Given the description of an element on the screen output the (x, y) to click on. 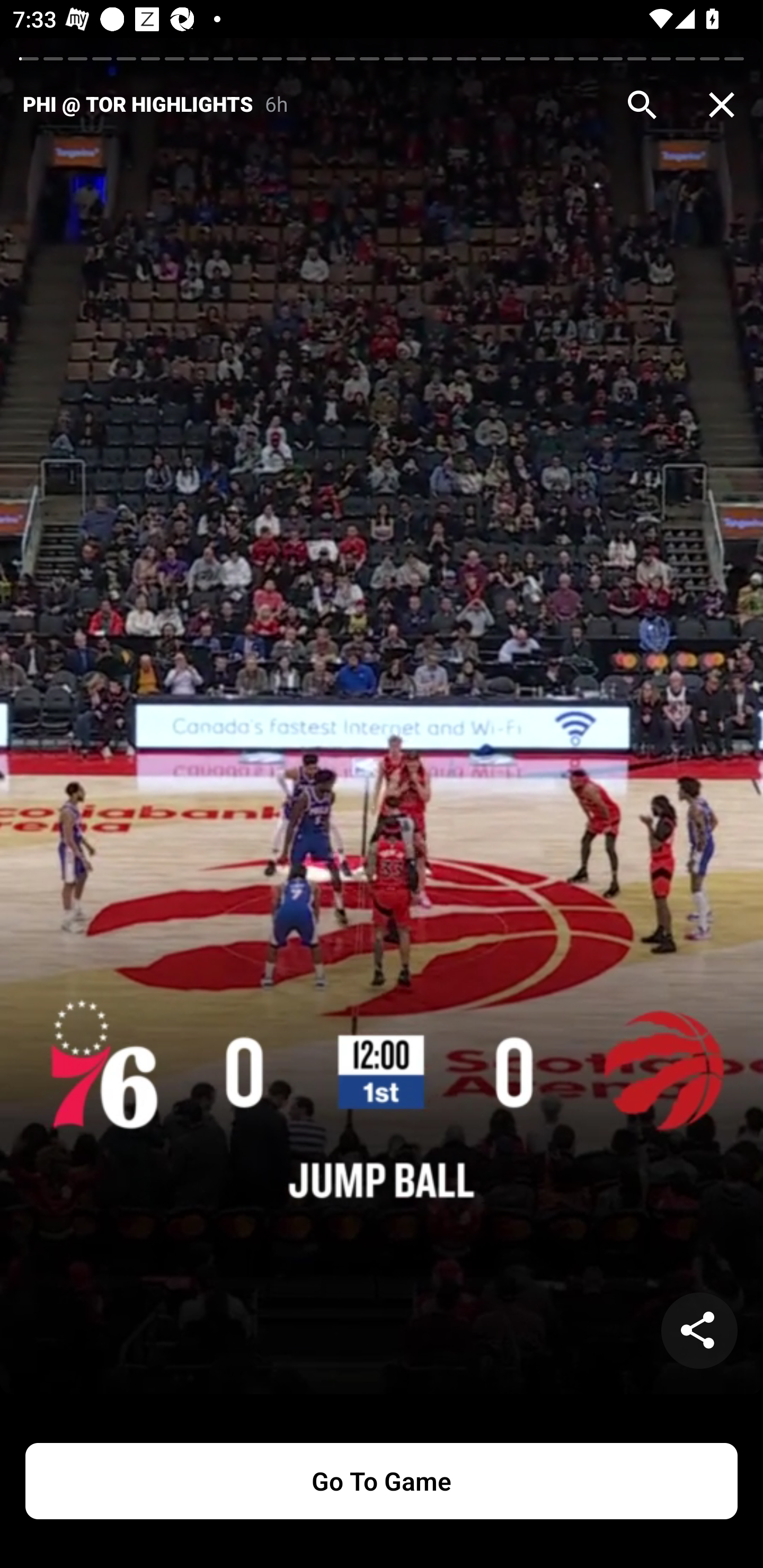
search (642, 104)
close (721, 104)
share (699, 1330)
Go To Game (381, 1480)
